Given the description of an element on the screen output the (x, y) to click on. 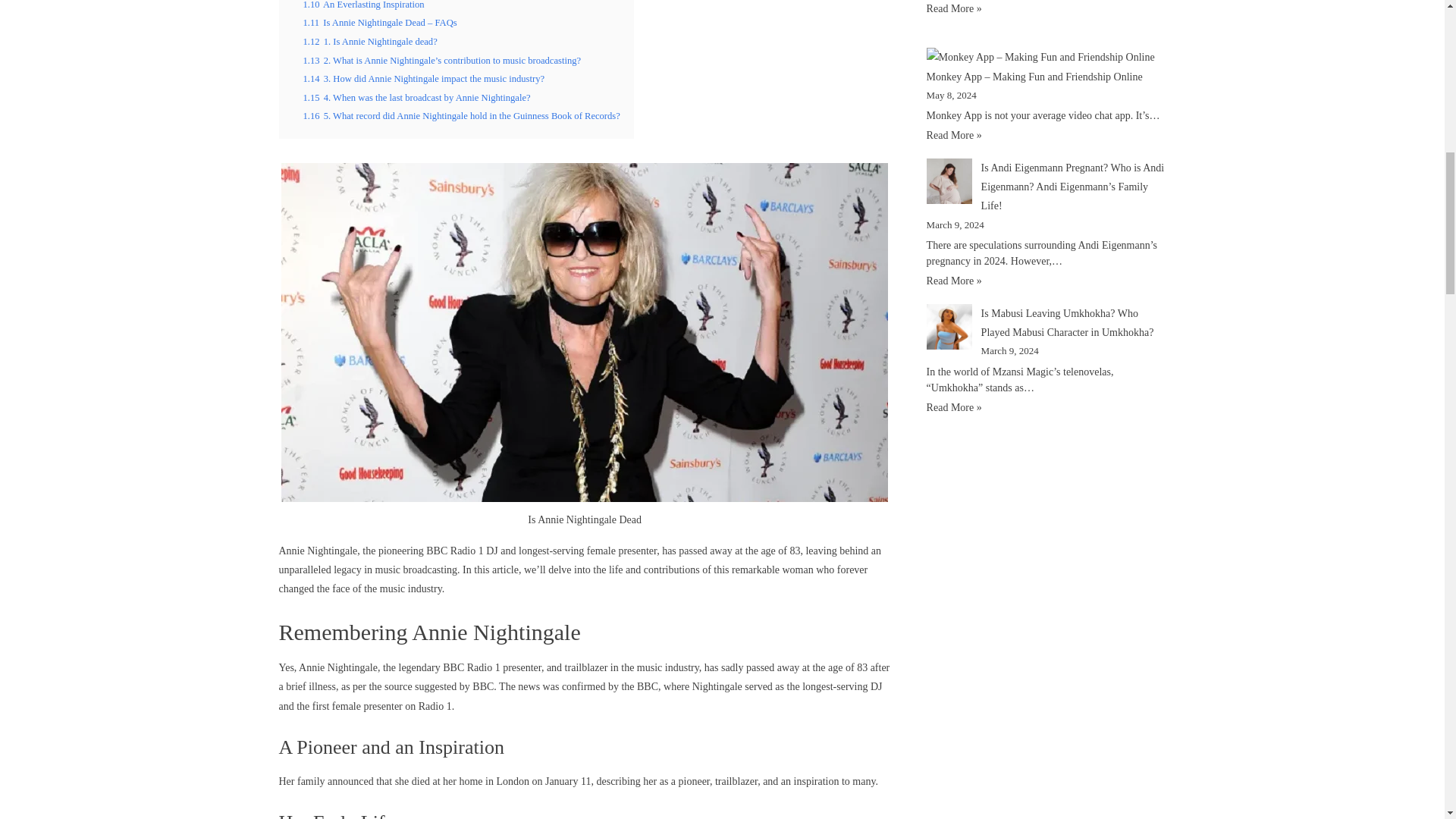
1.15 4. When was the last broadcast by Annie Nightingale? (416, 97)
1.12 1. Is Annie Nightingale dead? (370, 41)
1.14 3. How did Annie Nightingale impact the music industry? (423, 78)
1.10 An Everlasting Inspiration (363, 4)
